Given the description of an element on the screen output the (x, y) to click on. 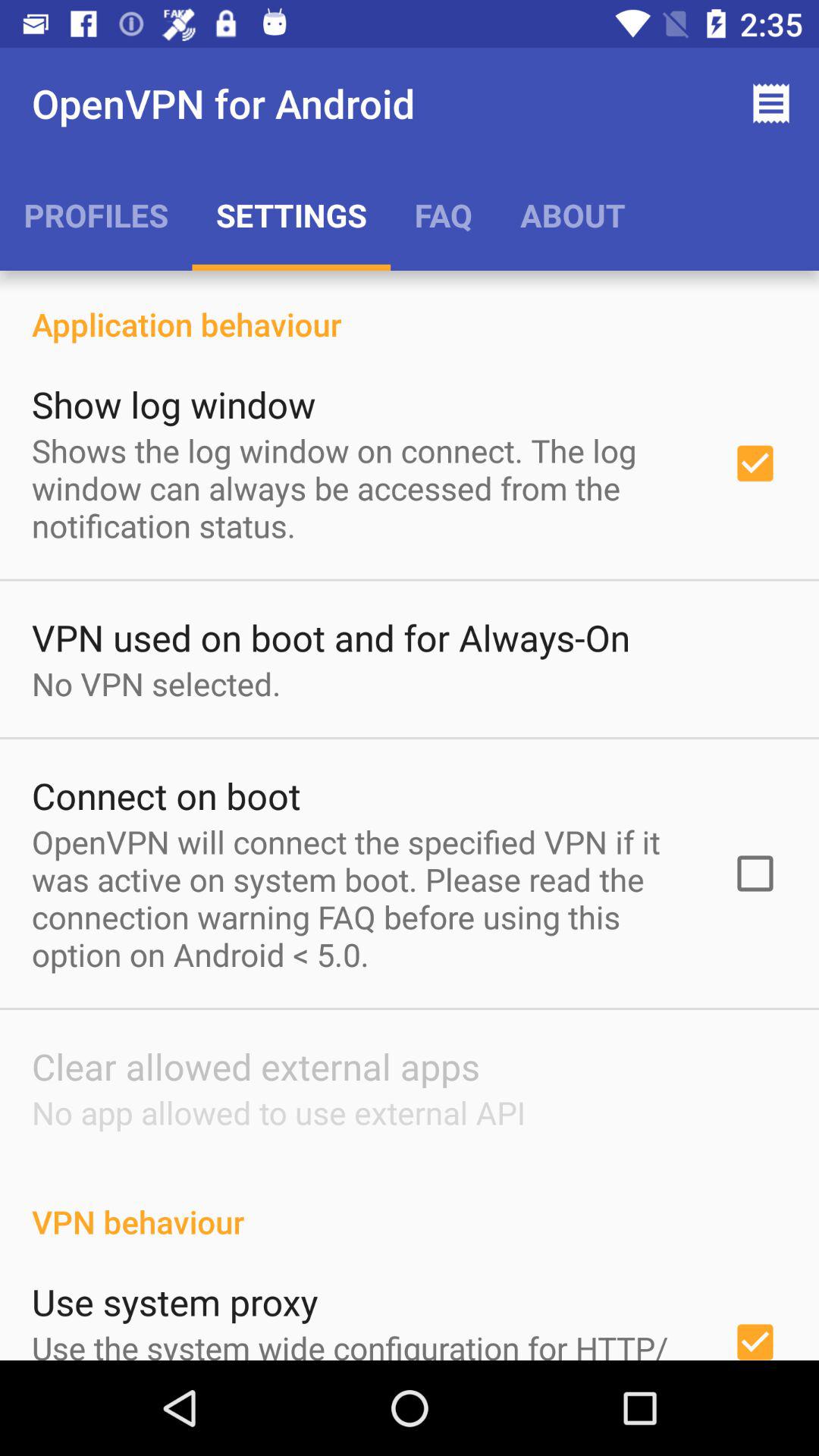
choose the icon below the clear allowed external item (278, 1112)
